Given the description of an element on the screen output the (x, y) to click on. 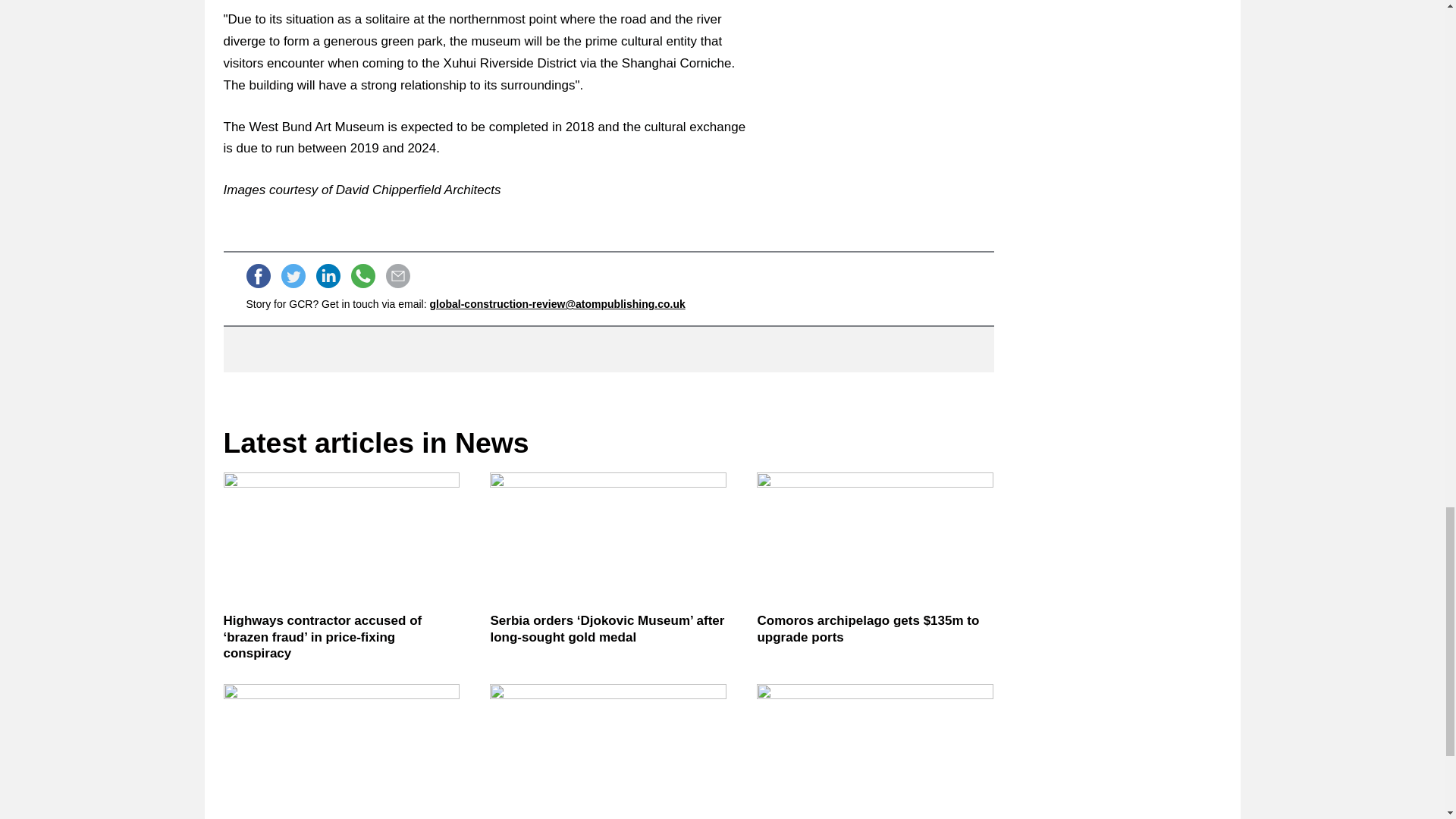
Share on WhatsApp (362, 275)
Tweet (292, 275)
Share on LinkedIn (327, 275)
Share on Facebook (257, 275)
Send email (397, 275)
